Given the description of an element on the screen output the (x, y) to click on. 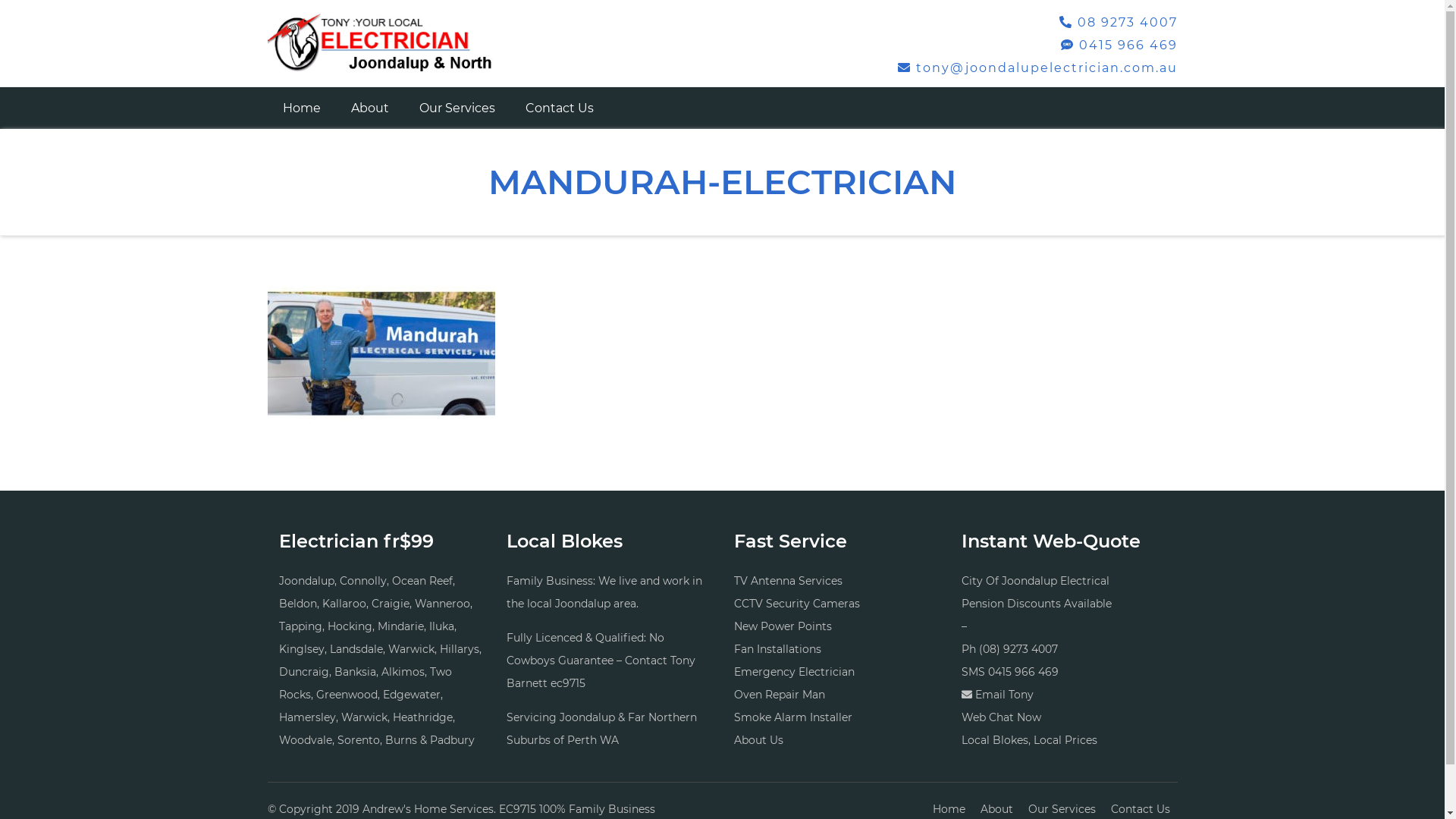
0415 966 469 Element type: text (1118, 44)
CCTV Security Cameras Element type: text (796, 603)
Web Chat Now Element type: text (1001, 717)
TV Antenna Services Element type: text (788, 580)
Home Element type: text (300, 107)
0415 966 469 Element type: text (1022, 671)
Contact Us Element type: text (558, 107)
Email Tony Element type: text (1004, 694)
Smoke Alarm Installe Element type: text (790, 717)
Fan Installations Element type: text (777, 648)
Emergency Electrician Element type: text (794, 671)
About Us Element type: text (758, 739)
Our Services Element type: text (456, 107)
New Power Points Element type: text (782, 626)
tony@joondalupelectrician.com.au Element type: text (1037, 67)
08 9273 4007 Element type: text (1117, 22)
Oven Repair Man Element type: text (779, 694)
About Element type: text (369, 107)
(08) 9273 4007 Element type: text (1017, 648)
